Given the description of an element on the screen output the (x, y) to click on. 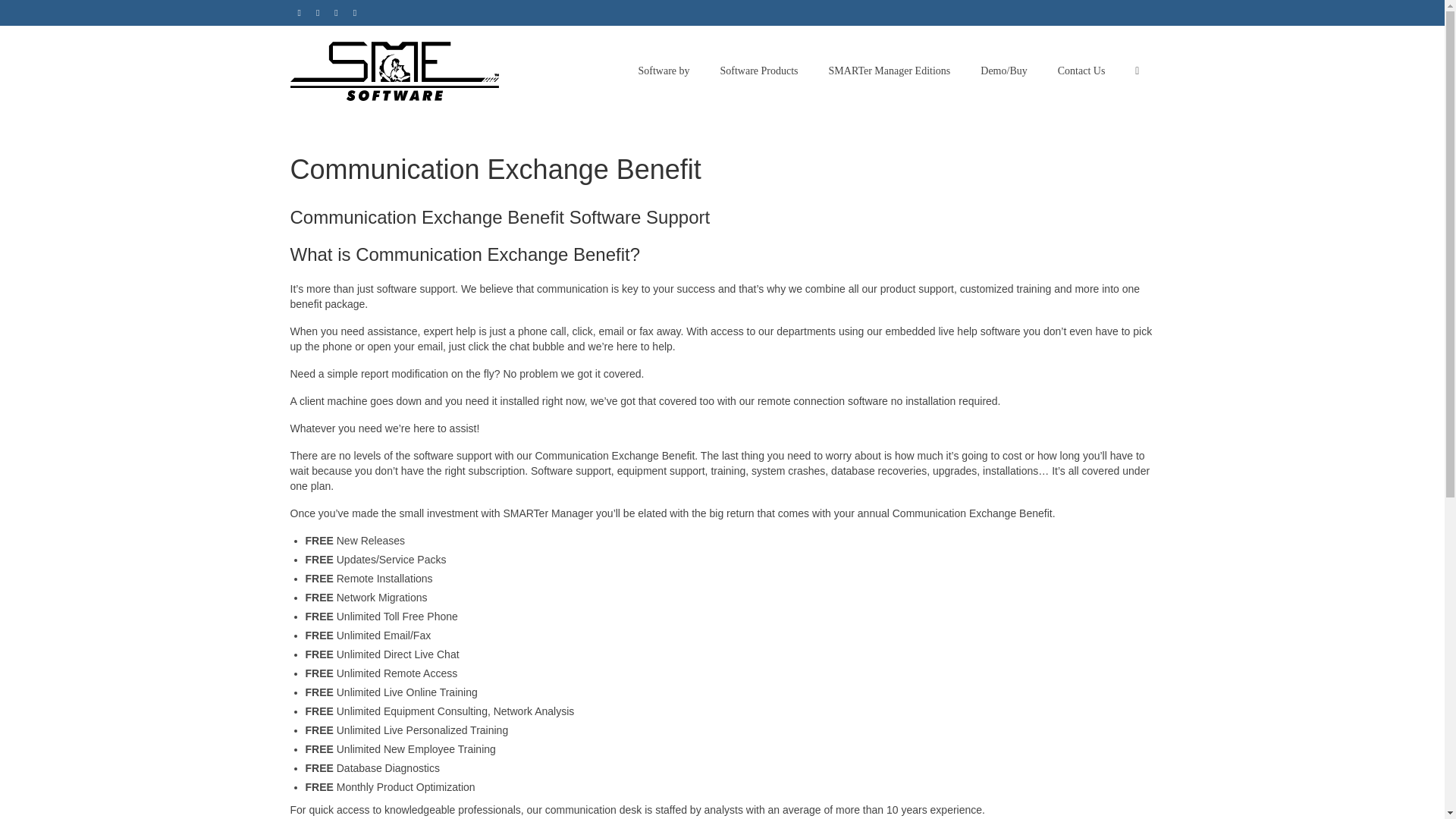
Comparison (889, 71)
Software by (663, 71)
Software Products (758, 71)
